Given the description of an element on the screen output the (x, y) to click on. 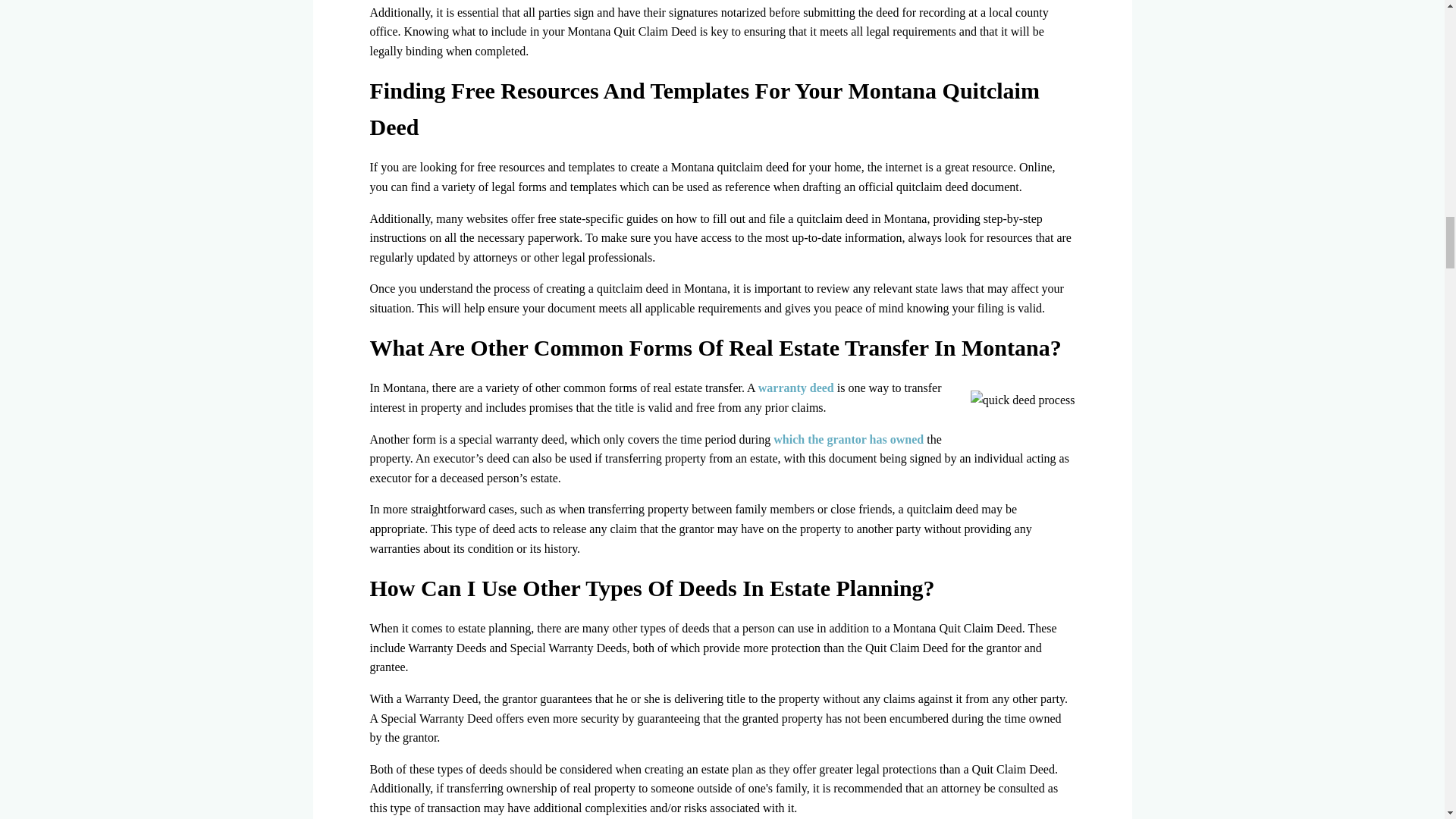
which the grantor has owned (848, 439)
warranty deed (796, 387)
